Given the description of an element on the screen output the (x, y) to click on. 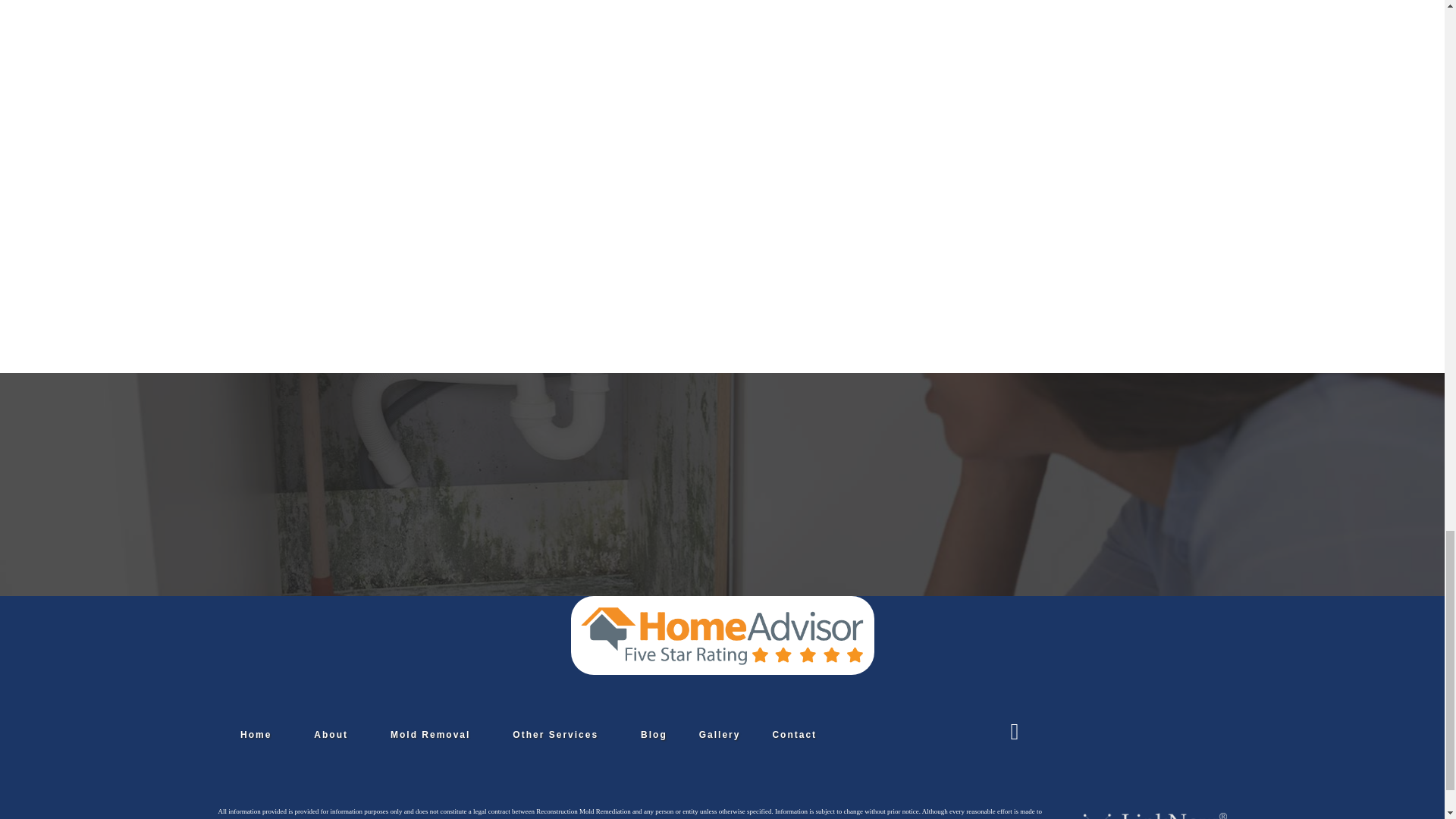
Other Services (555, 734)
About (331, 734)
Mold Removal (430, 734)
Home (256, 734)
